Given the description of an element on the screen output the (x, y) to click on. 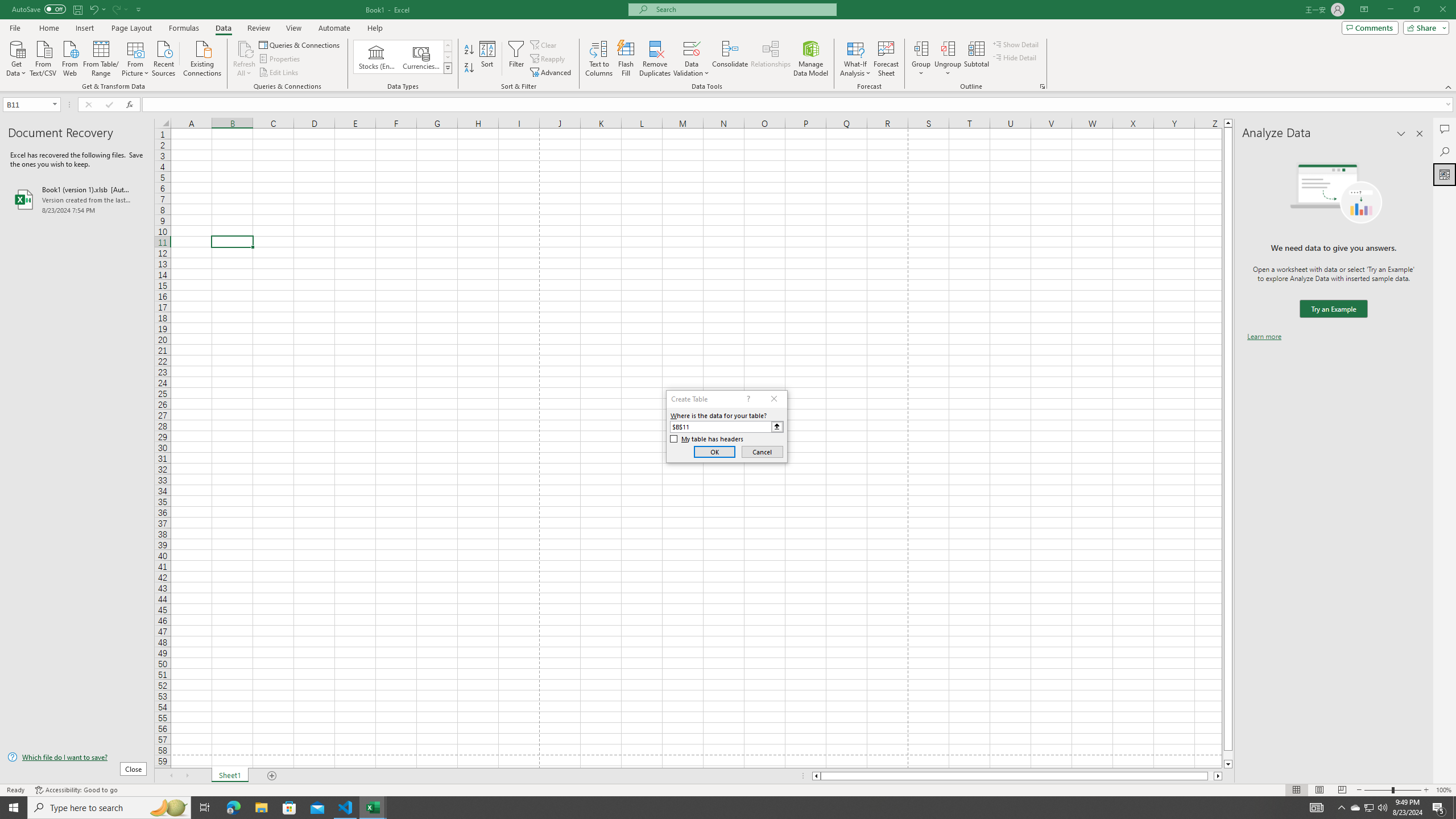
Row Down (448, 56)
Properties (280, 58)
Class: NetUIImage (447, 68)
Hide Detail (1014, 56)
Consolidate... (729, 58)
